Given the description of an element on the screen output the (x, y) to click on. 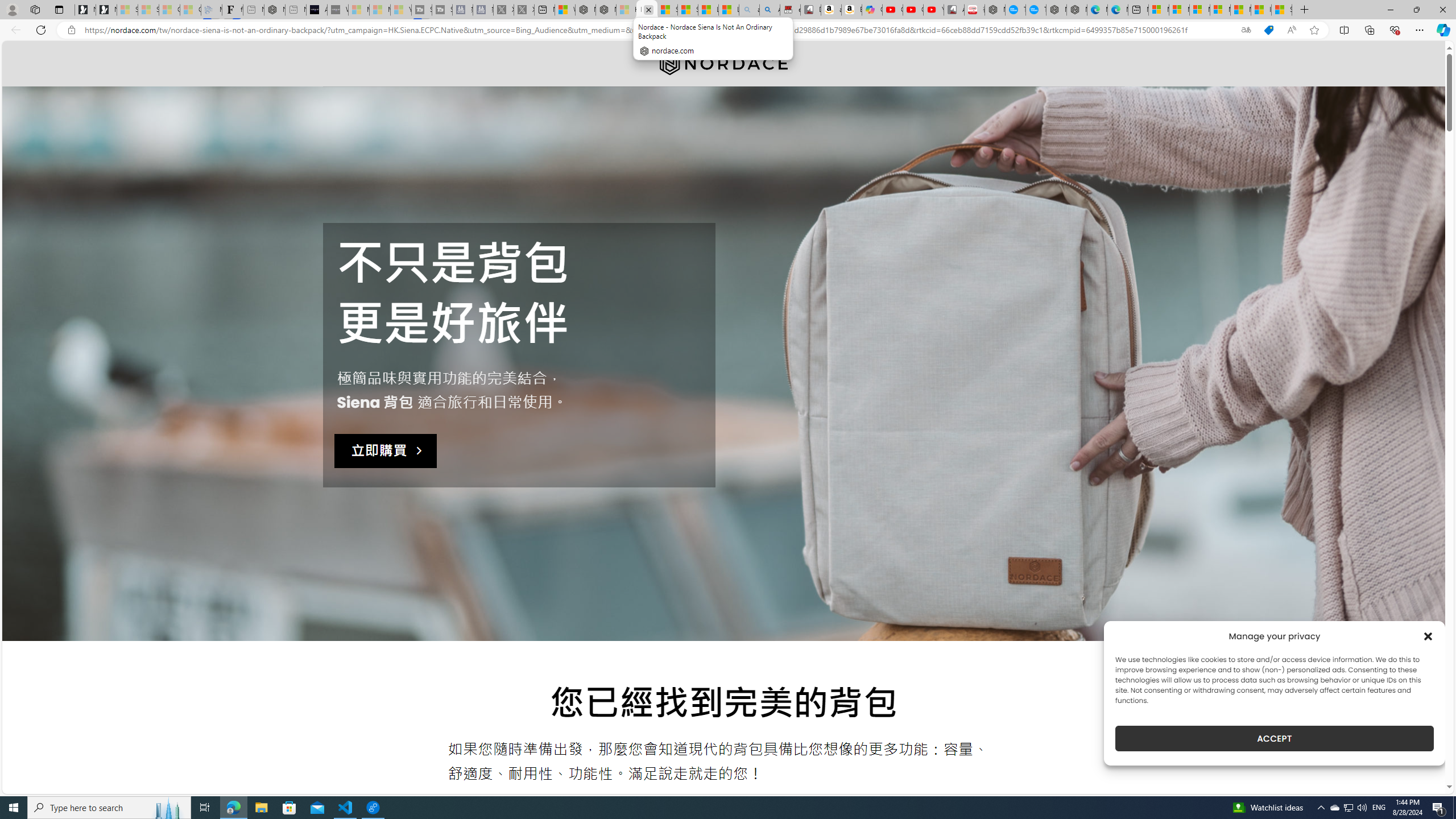
The most popular Google 'how to' searches (1035, 9)
YouTube Kids - An App Created for Kids to Explore Content (933, 9)
What's the best AI voice generator? - voice.ai - Sleeping (337, 9)
Microsoft account | Microsoft Account Privacy Settings (1178, 9)
AI Voice Changer for PC and Mac - Voice.ai (316, 9)
This site has coupons! Shopping in Microsoft Edge (1268, 29)
Nordace - #1 Japanese Best-Seller - Siena Smart Backpack (274, 9)
Microsoft account | Privacy (1219, 9)
